Given the description of an element on the screen output the (x, y) to click on. 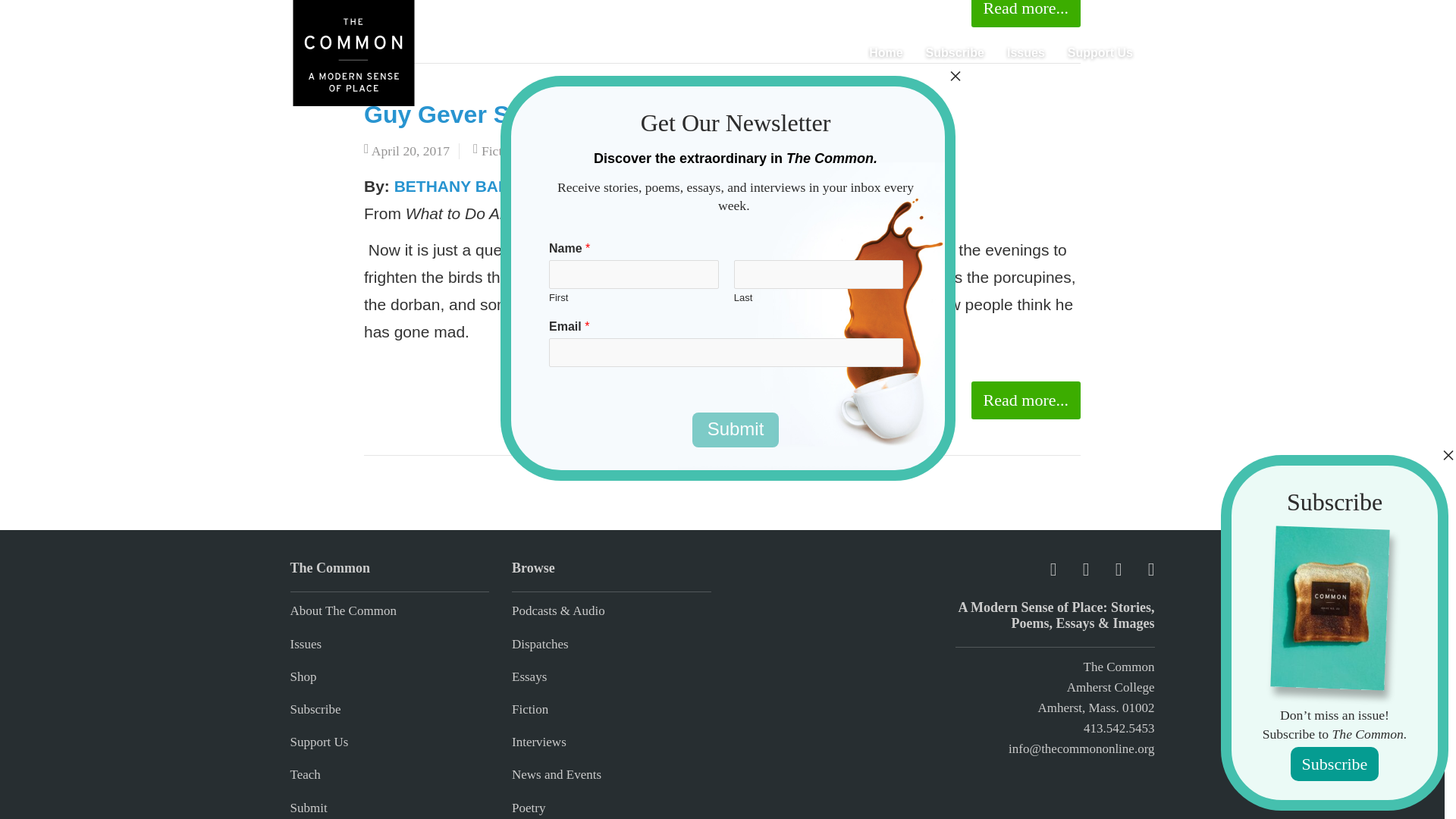
Read more... (1025, 13)
